Given the description of an element on the screen output the (x, y) to click on. 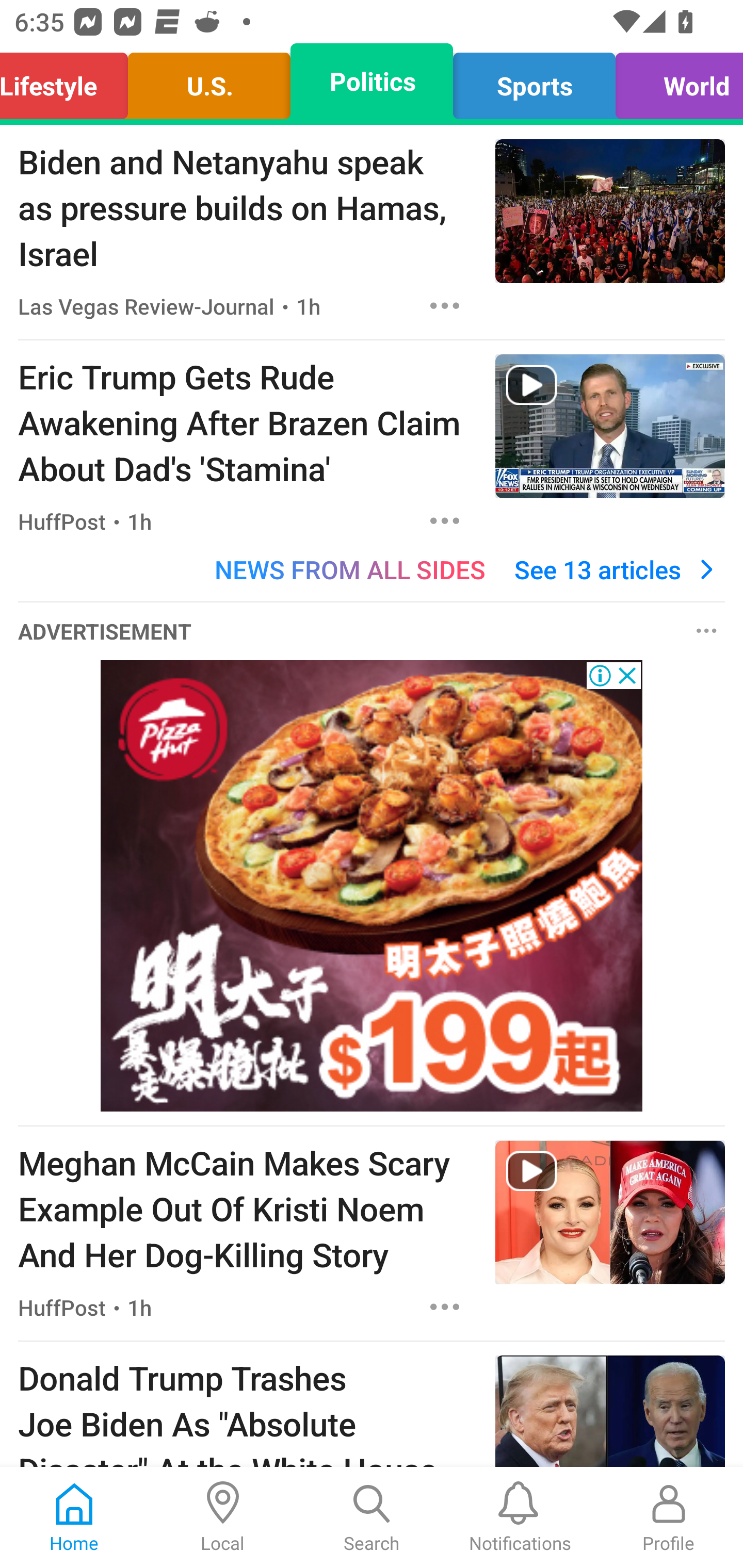
Lifestyle (69, 81)
U.S. (209, 81)
Politics (371, 81)
Sports (534, 81)
World (673, 81)
Options (444, 305)
Options (444, 520)
NEWS FROM ALL SIDES See 13 articles (371, 569)
Options (706, 631)
Options (444, 1306)
Local (222, 1517)
Search (371, 1517)
Notifications (519, 1517)
Profile (668, 1517)
